Given the description of an element on the screen output the (x, y) to click on. 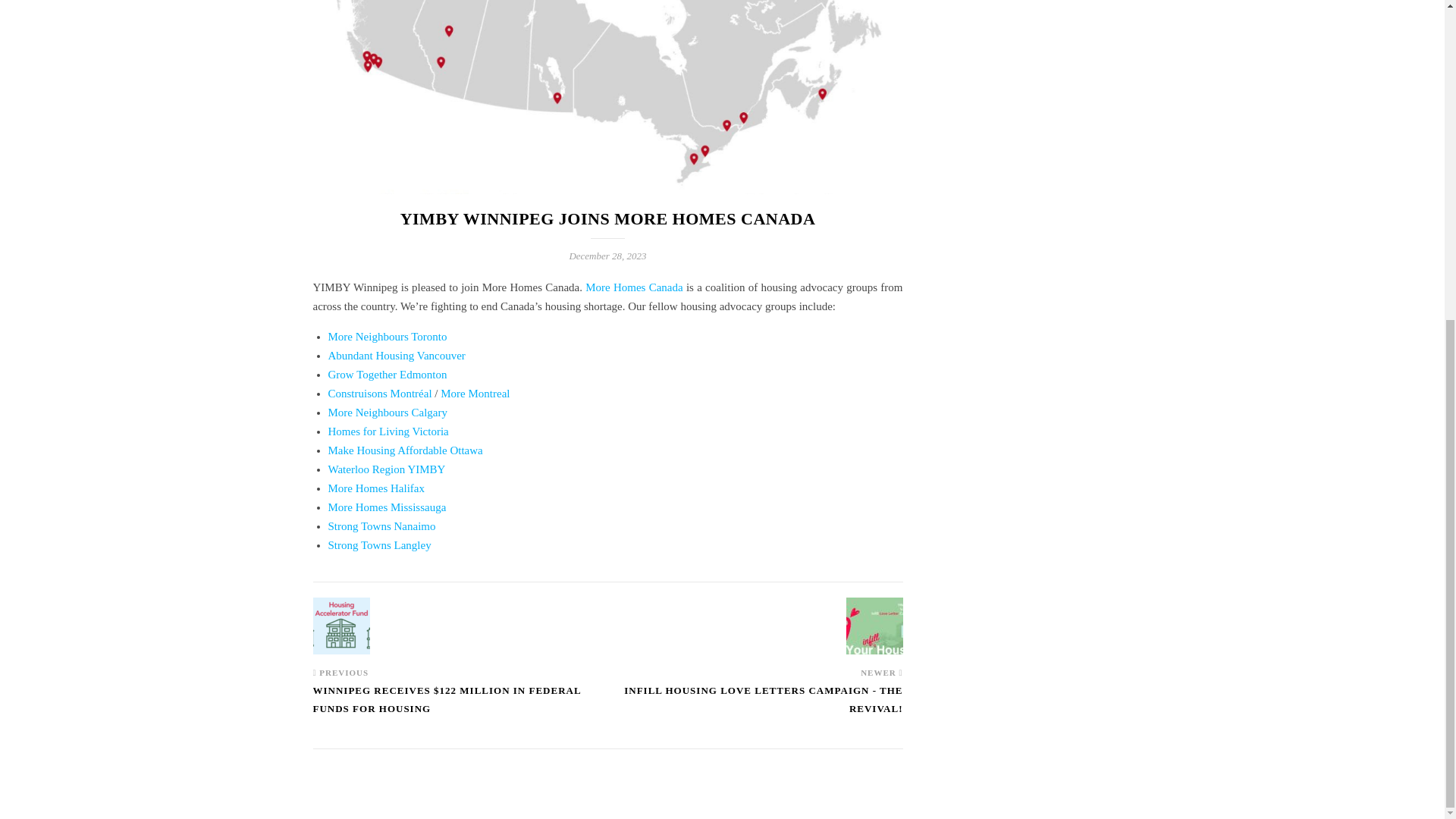
More Neighbours Calgary (386, 412)
Waterloo Region YIMBY (386, 469)
More Montreal (475, 393)
More Homes Mississauga (386, 507)
More Homes Canada (633, 287)
More Montreal (475, 393)
Homes for Living Victoria (387, 431)
Strong Towns Nanaimo (381, 526)
Abundant Housing Vancouver (395, 355)
INFILL HOUSING LOVE LETTERS CAMPAIGN - THE REVIVAL! (755, 706)
